Given the description of an element on the screen output the (x, y) to click on. 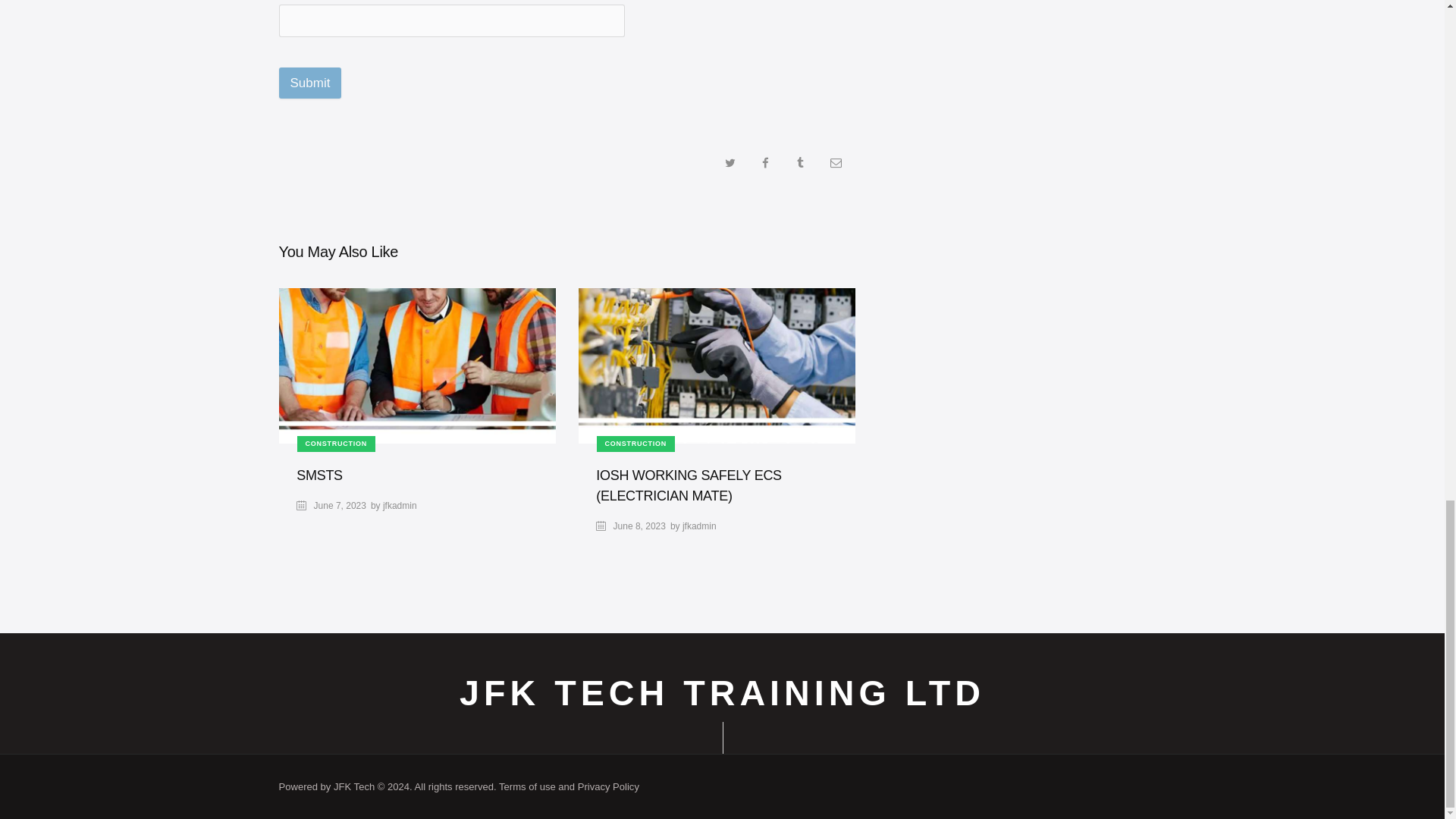
Submit (310, 82)
